Given the description of an element on the screen output the (x, y) to click on. 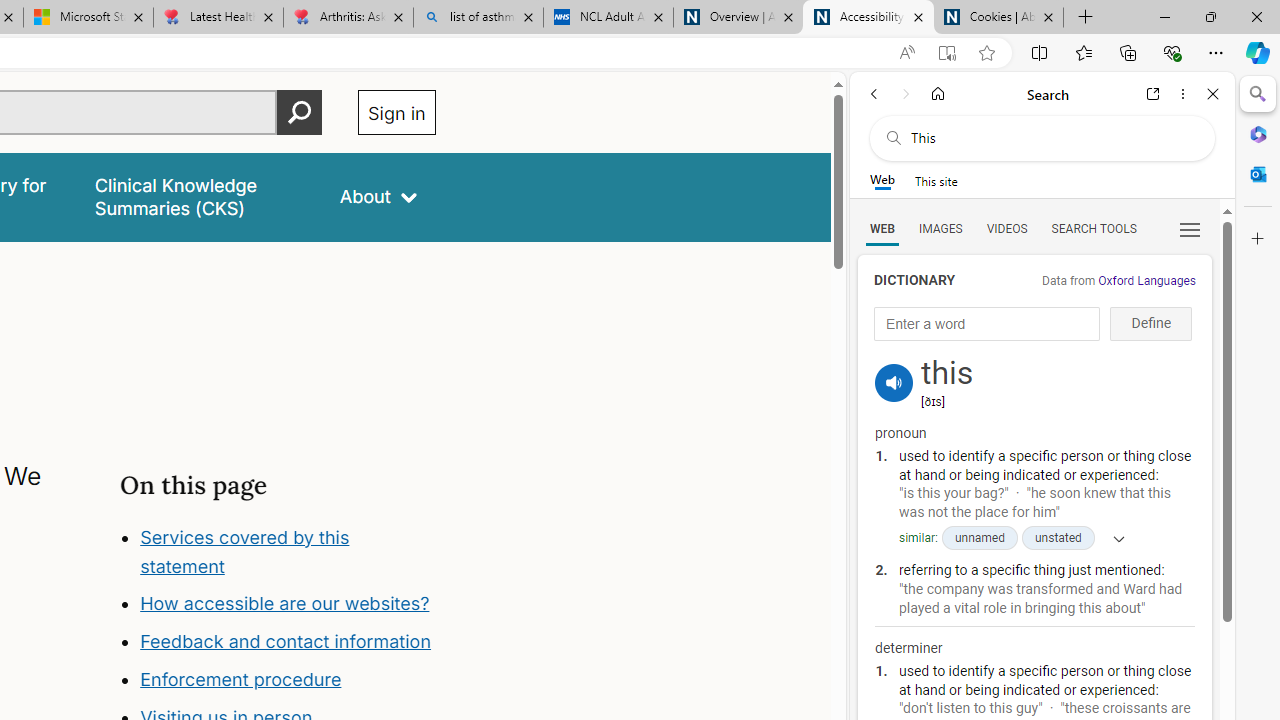
false (198, 196)
VIDEOS (1006, 228)
NCL Adult Asthma Inhaler Choice Guideline (608, 17)
Accessibility | NICE (868, 17)
Search Filter, WEB (882, 228)
Cookies | About | NICE (998, 17)
Services covered by this statement (244, 551)
How accessible are our websites? (287, 604)
